Given the description of an element on the screen output the (x, y) to click on. 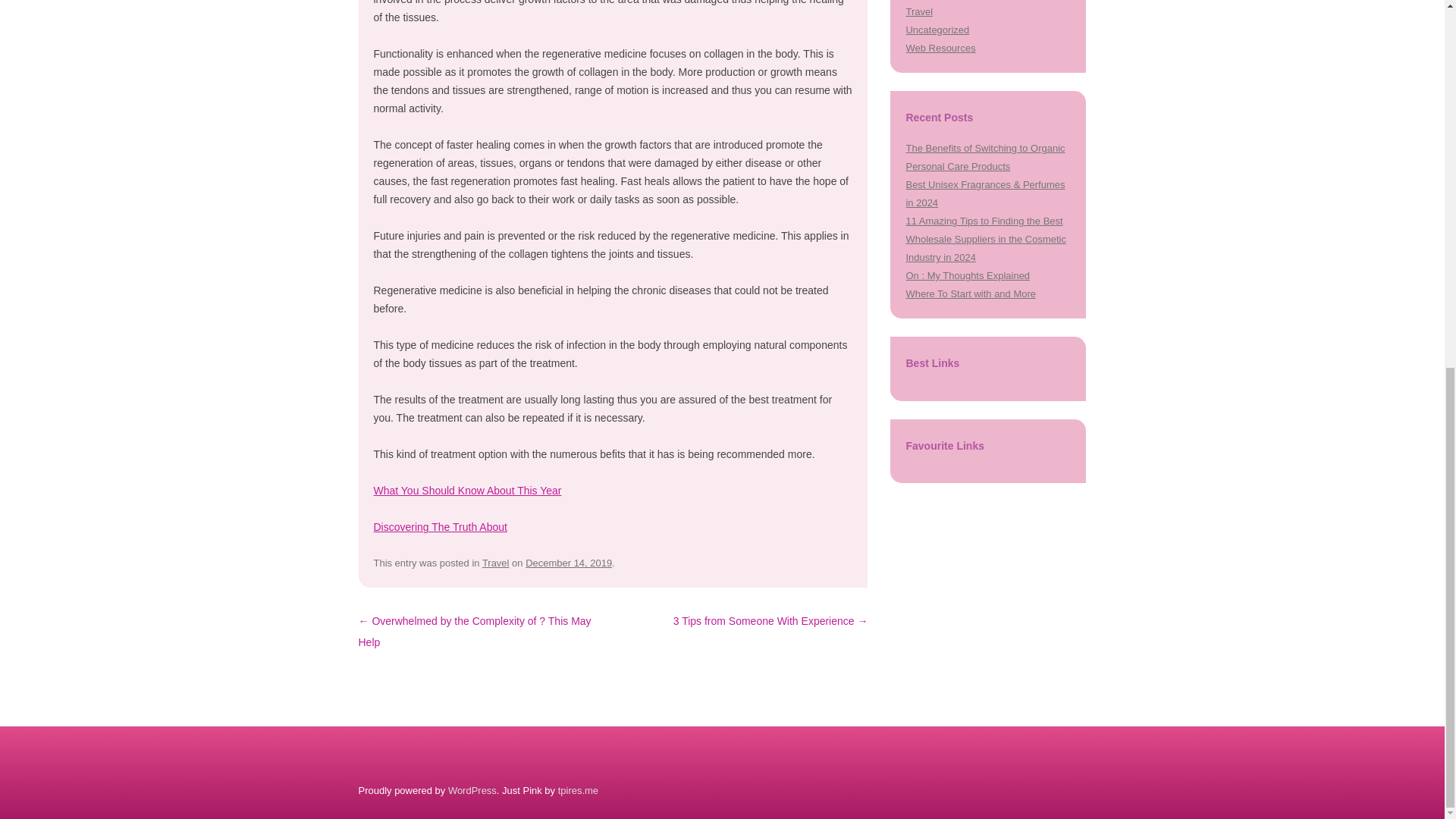
Web Resources (940, 48)
Semantic Personal Publishing Platform (472, 790)
On : My Thoughts Explained (967, 275)
Uncategorized (937, 30)
8:13 pm (568, 562)
Travel (919, 11)
What You Should Know About This Year (466, 490)
Discovering The Truth About (439, 526)
Travel (495, 562)
